Given the description of an element on the screen output the (x, y) to click on. 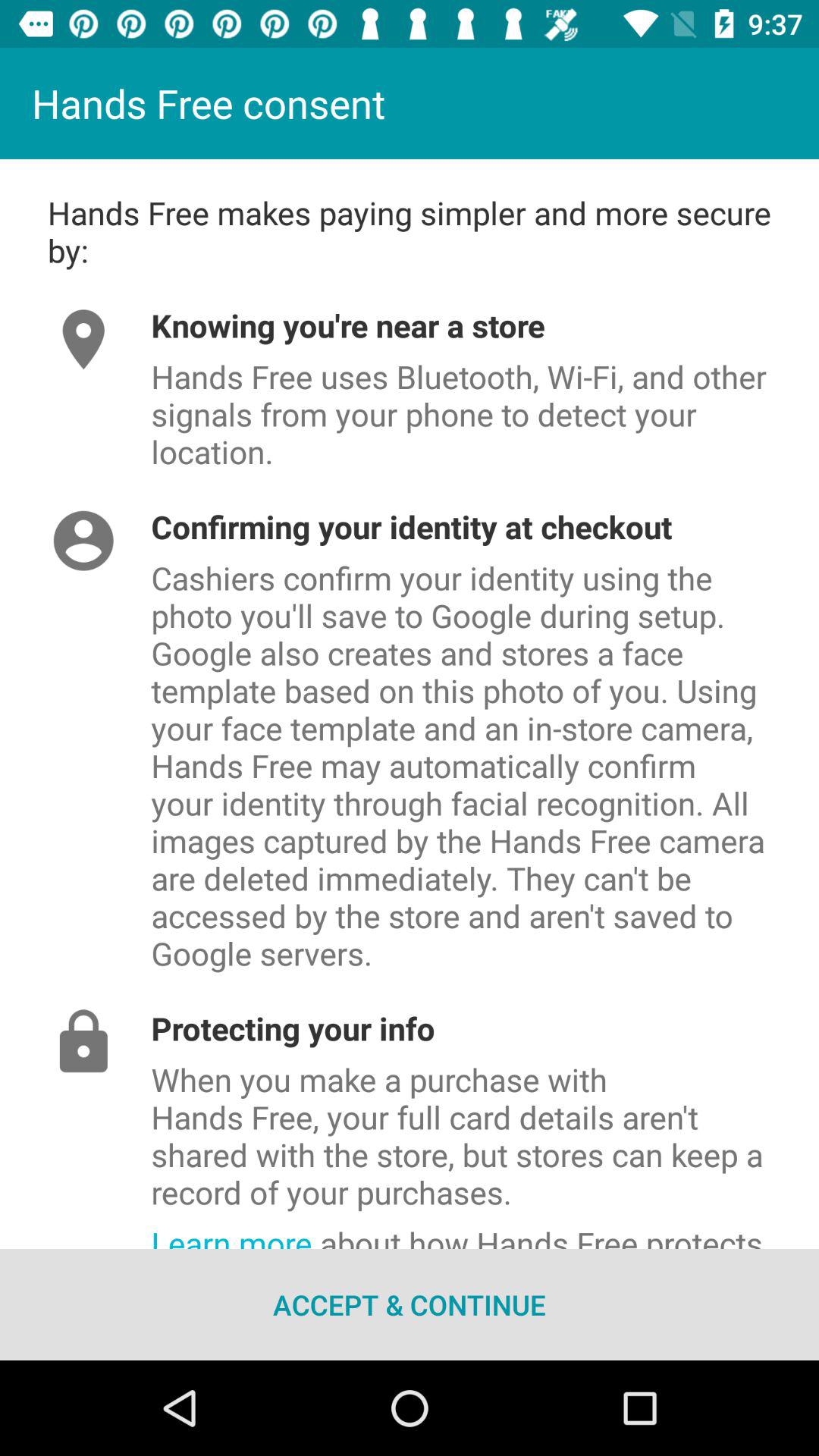
press the icon below the learn more about icon (409, 1304)
